Given the description of an element on the screen output the (x, y) to click on. 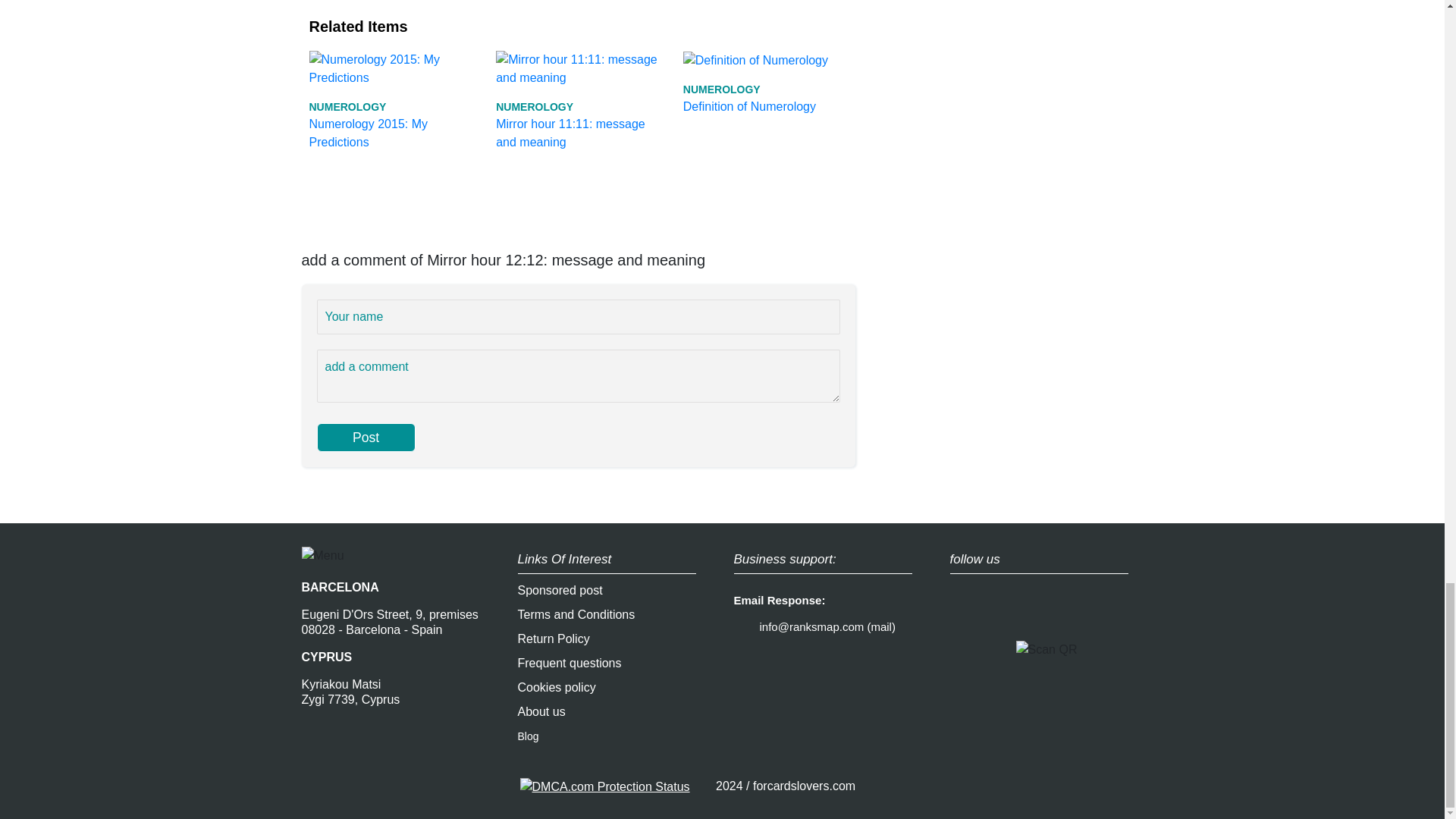
Post (365, 437)
Numerology 2015: My Predictions (391, 99)
